Given the description of an element on the screen output the (x, y) to click on. 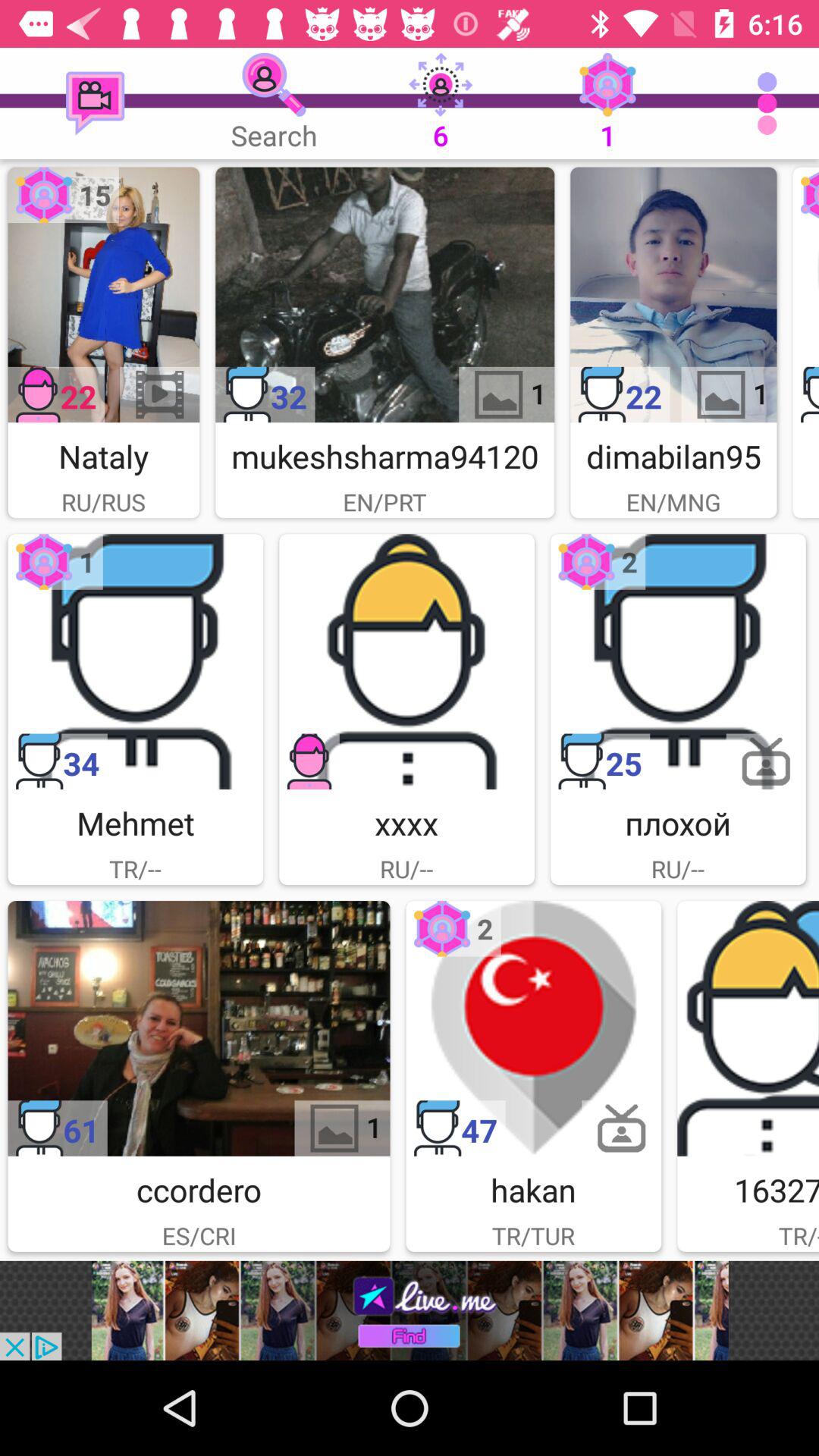
selection choice (384, 294)
